Given the description of an element on the screen output the (x, y) to click on. 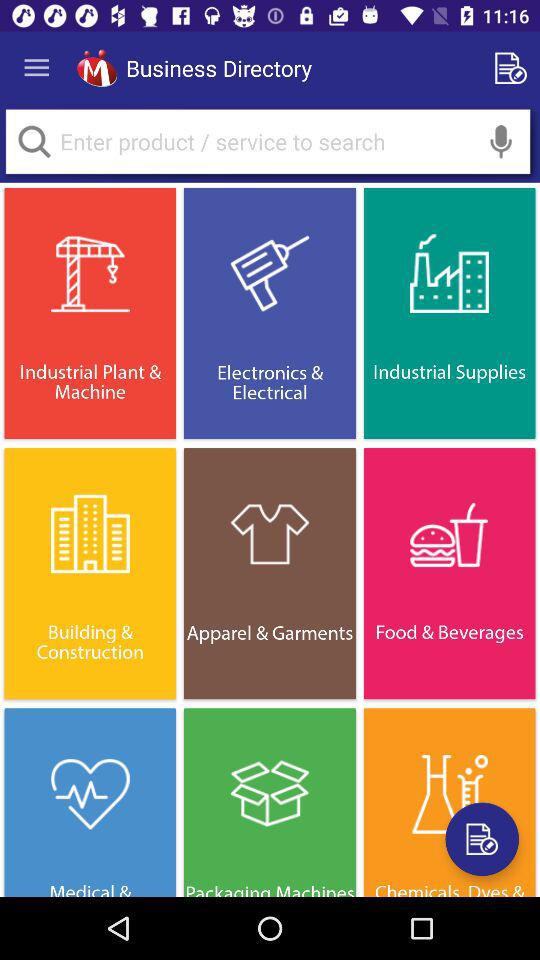
press to speak (501, 141)
